Given the description of an element on the screen output the (x, y) to click on. 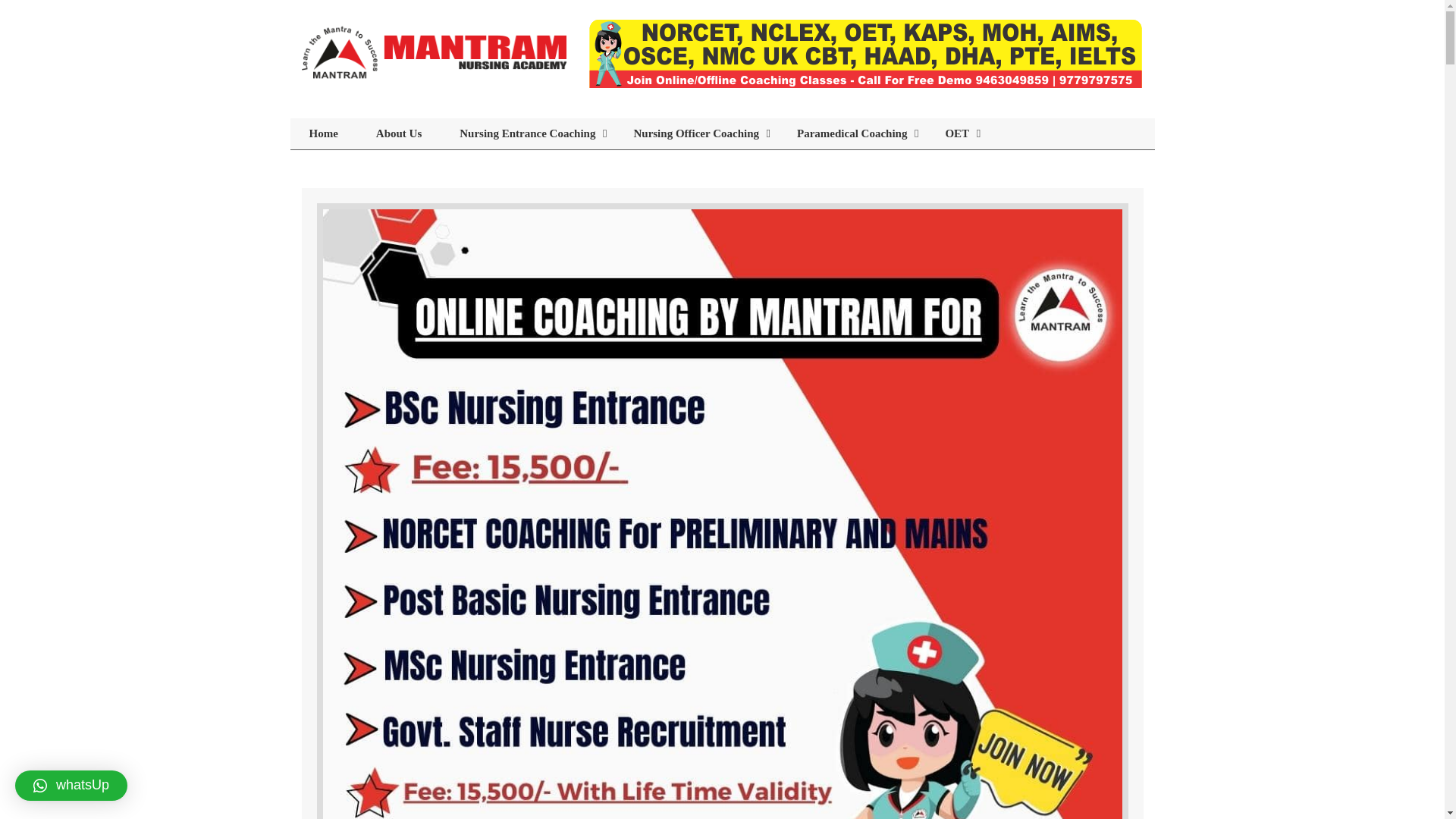
Nursing Entrance Coaching (527, 133)
OET (957, 133)
About Us (398, 133)
Paramedical Coaching (851, 133)
Nursing Officer Coaching (695, 133)
Home (322, 133)
